Given the description of an element on the screen output the (x, y) to click on. 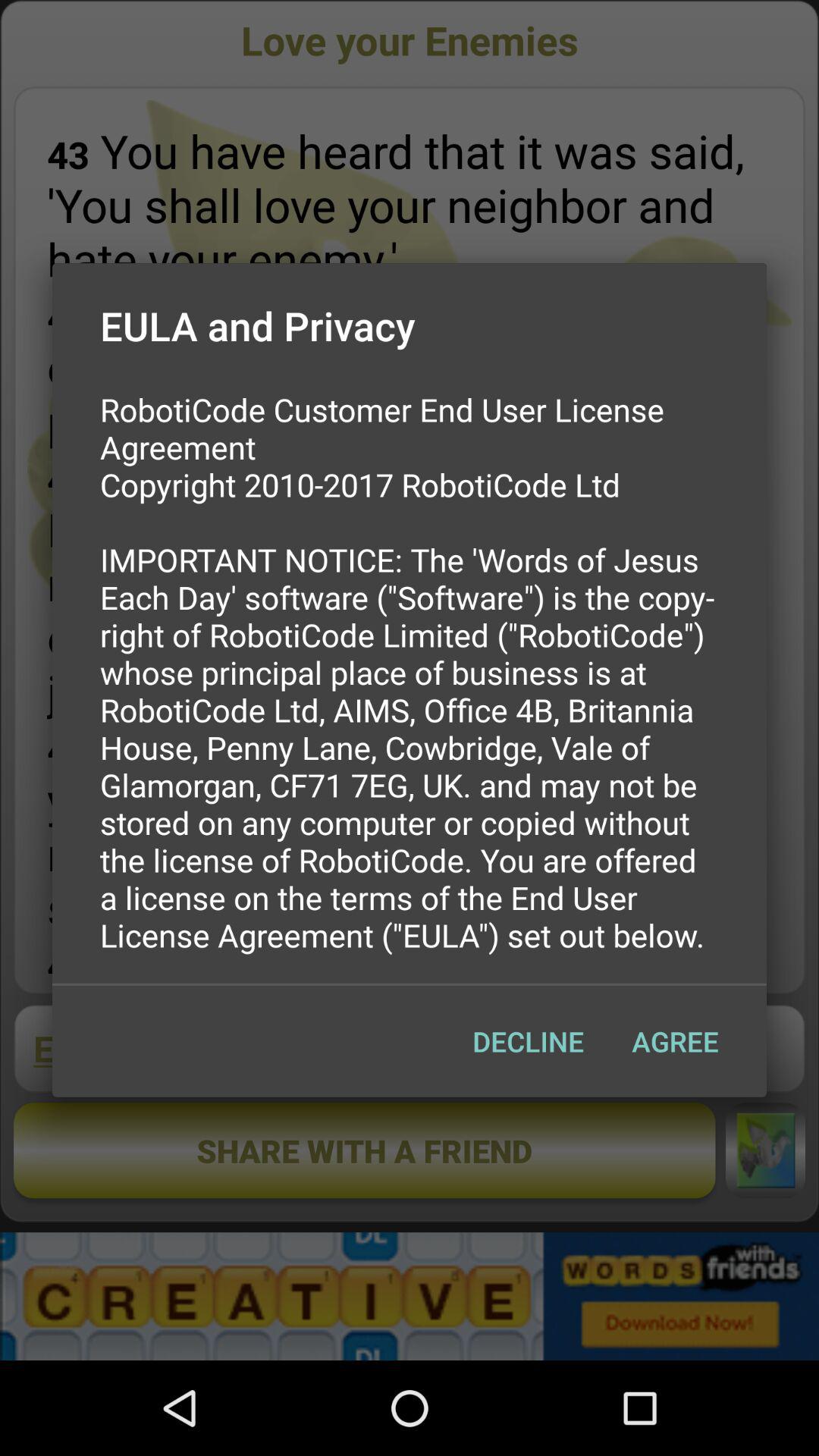
scroll to agree button (674, 1041)
